Given the description of an element on the screen output the (x, y) to click on. 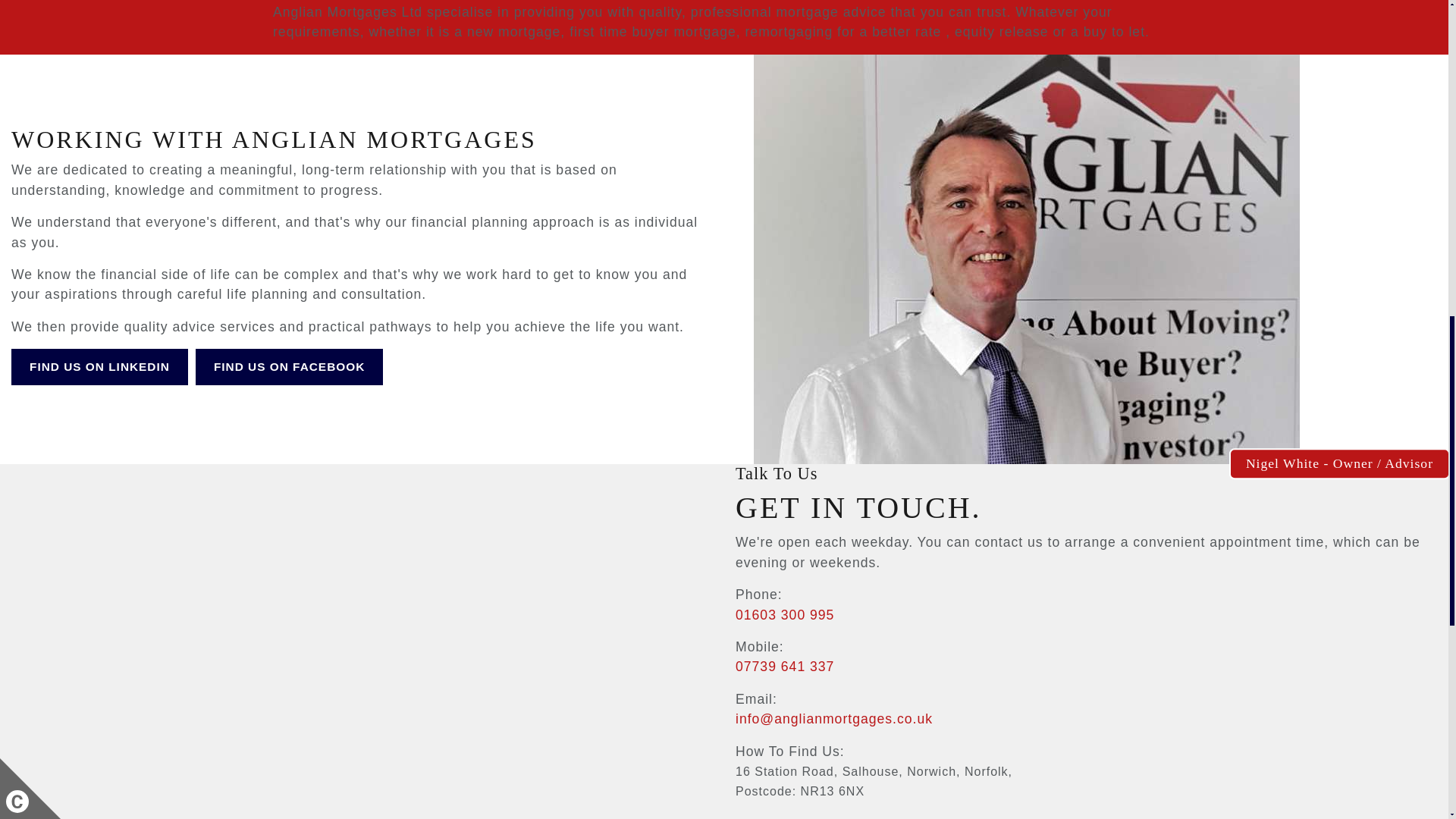
FIND US ON LINKEDIN (99, 366)
01603 300 995 (784, 614)
07739 641 337 (784, 666)
Call Anglian Mortgages (784, 666)
Email Anglian Mortgages (834, 718)
FIND US ON FACEBOOK (288, 366)
